Given the description of an element on the screen output the (x, y) to click on. 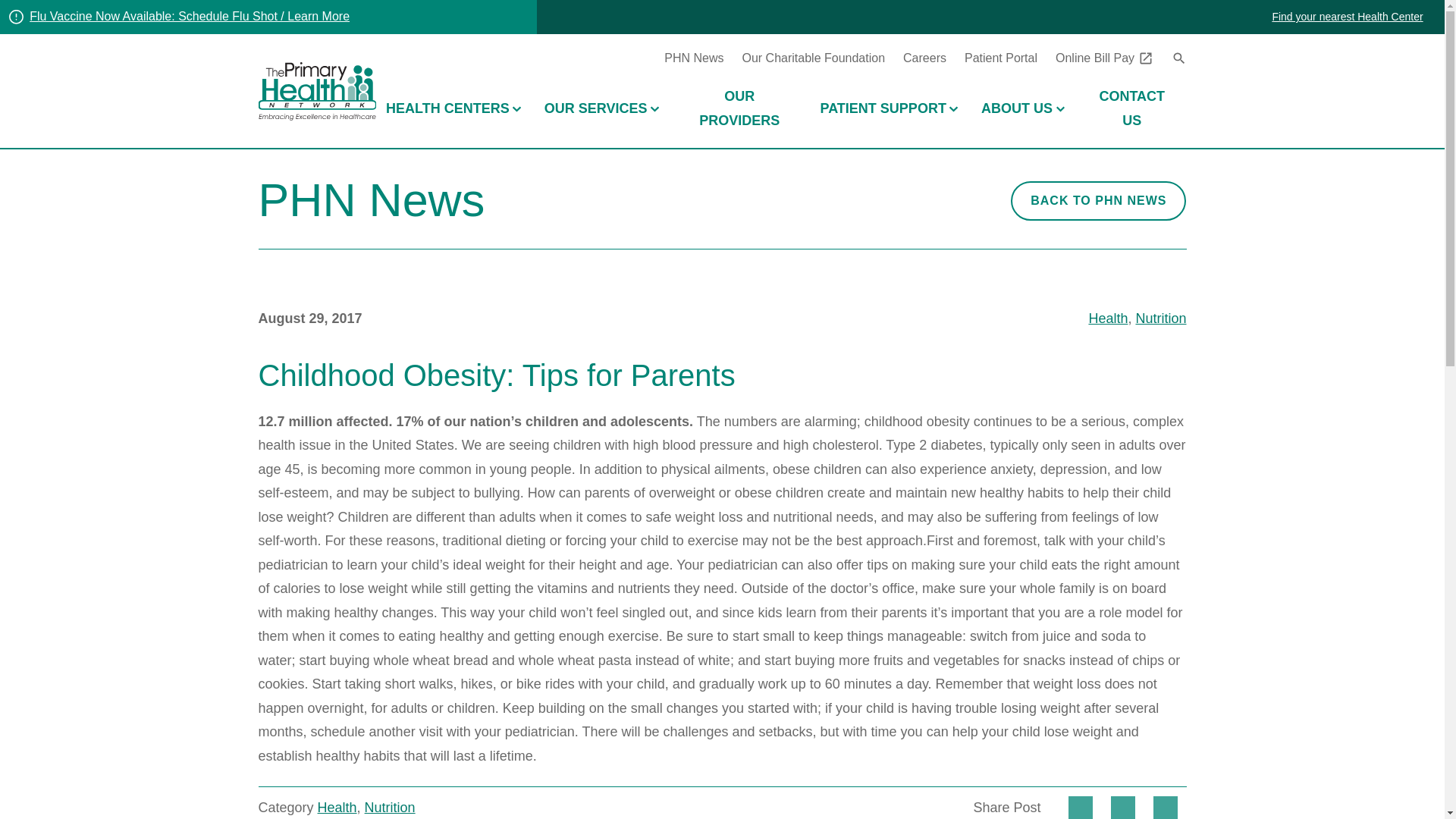
Careers (924, 57)
Find your nearest Health Center (1346, 16)
HEALTH CENTERS (453, 109)
Share on LinkedIn (1164, 807)
SKIP TO MAIN CONTENT (721, 41)
OUR SERVICES (601, 109)
PHN News (693, 57)
Our Charitable Foundation (813, 57)
Primary Health Network (316, 91)
Online Bill Pay (1104, 57)
